Given the description of an element on the screen output the (x, y) to click on. 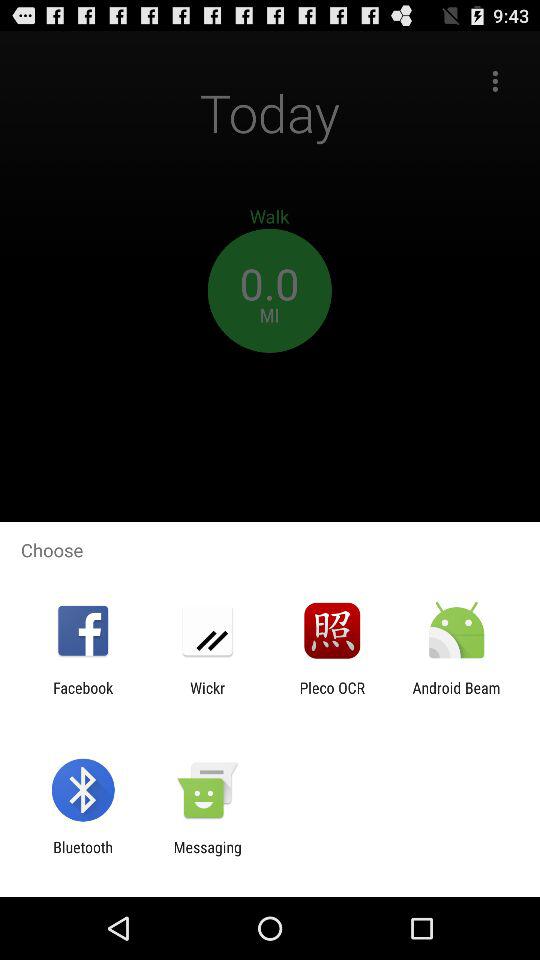
turn off the icon next to the pleco ocr item (456, 696)
